Given the description of an element on the screen output the (x, y) to click on. 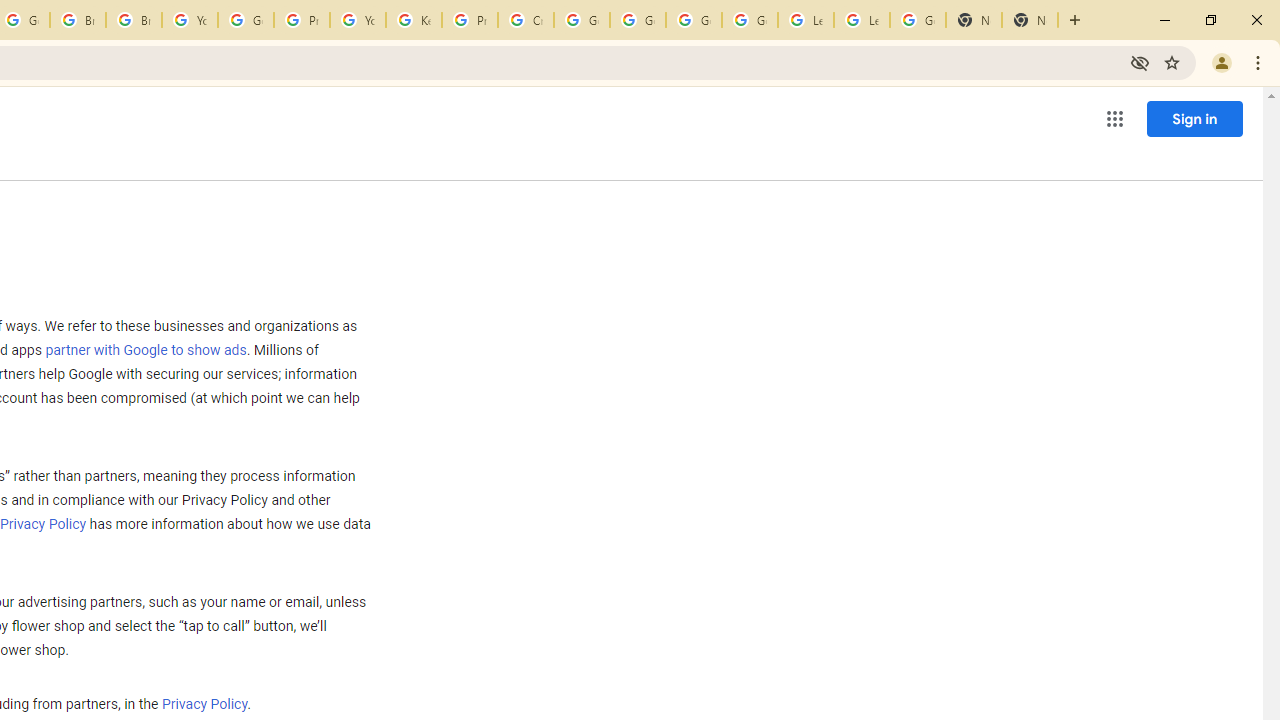
Google Account Help (693, 20)
New Tab (973, 20)
YouTube (358, 20)
partner with Google to show ads (145, 351)
Create your Google Account (525, 20)
